Given the description of an element on the screen output the (x, y) to click on. 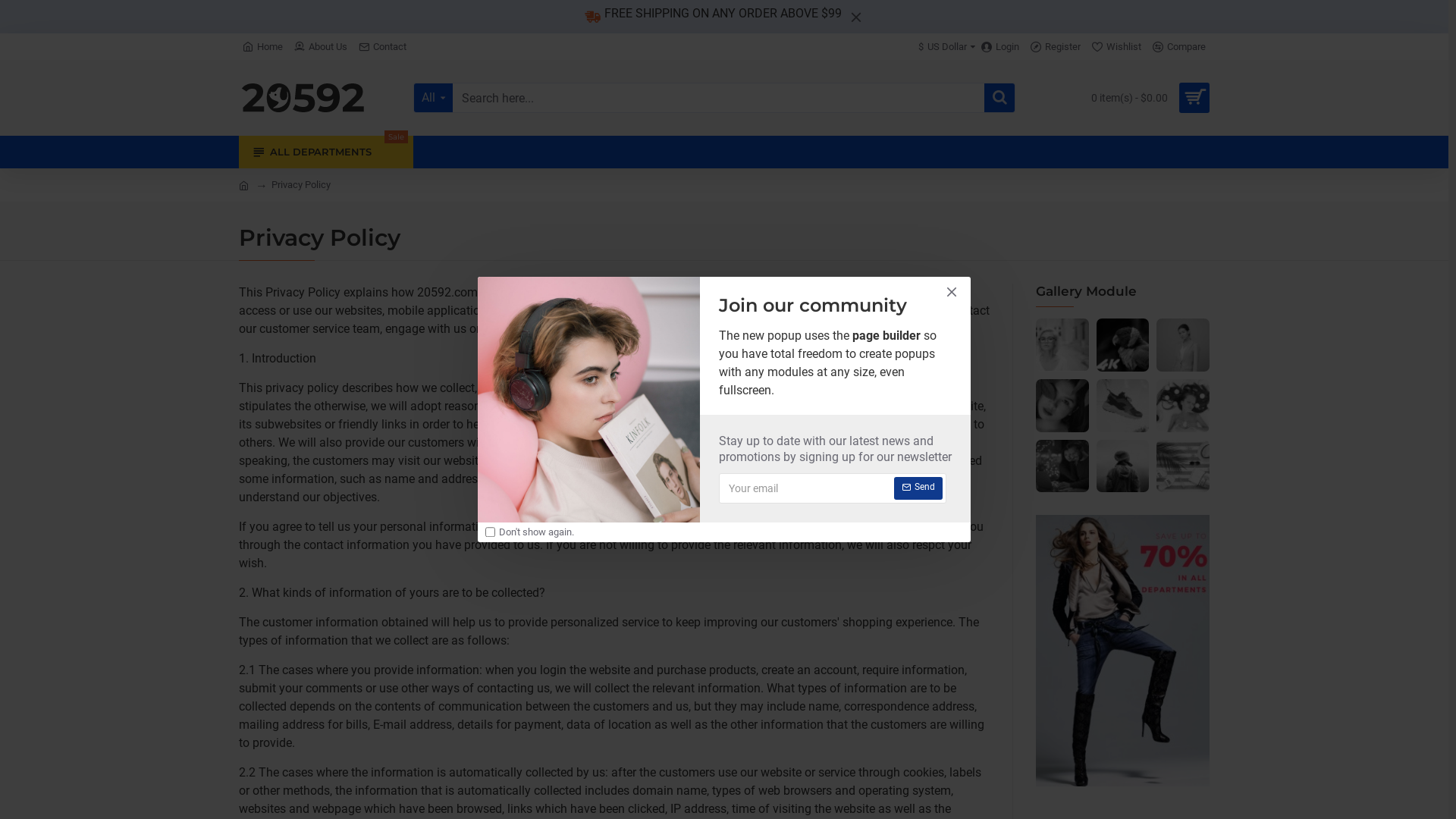
ALL DEPARTMENTS
Sale Element type: text (325, 151)
Image Caption Element type: hover (1061, 465)
Wishlist Element type: text (1116, 46)
Image Caption Element type: hover (1122, 465)
Home Element type: text (262, 46)
Send Element type: text (917, 487)
Image Caption Element type: hover (1182, 344)
Image Caption Element type: hover (1122, 344)
Contact Element type: text (382, 46)
0 item(s) - $0.00 Element type: text (1144, 97)
$
US Dollar Element type: text (942, 46)
Pet Supplies Element type: hover (308, 97)
Image Caption Element type: hover (1182, 405)
Image Caption Element type: hover (1122, 405)
Image Caption Element type: hover (1182, 465)
Image Caption Element type: hover (1061, 344)
Privacy Policy Element type: text (300, 184)
Register Element type: text (1055, 46)
Image Caption Element type: hover (1061, 405)
Login Element type: text (999, 46)
About Us Element type: text (320, 46)
Compare Element type: text (1178, 46)
